Given the description of an element on the screen output the (x, y) to click on. 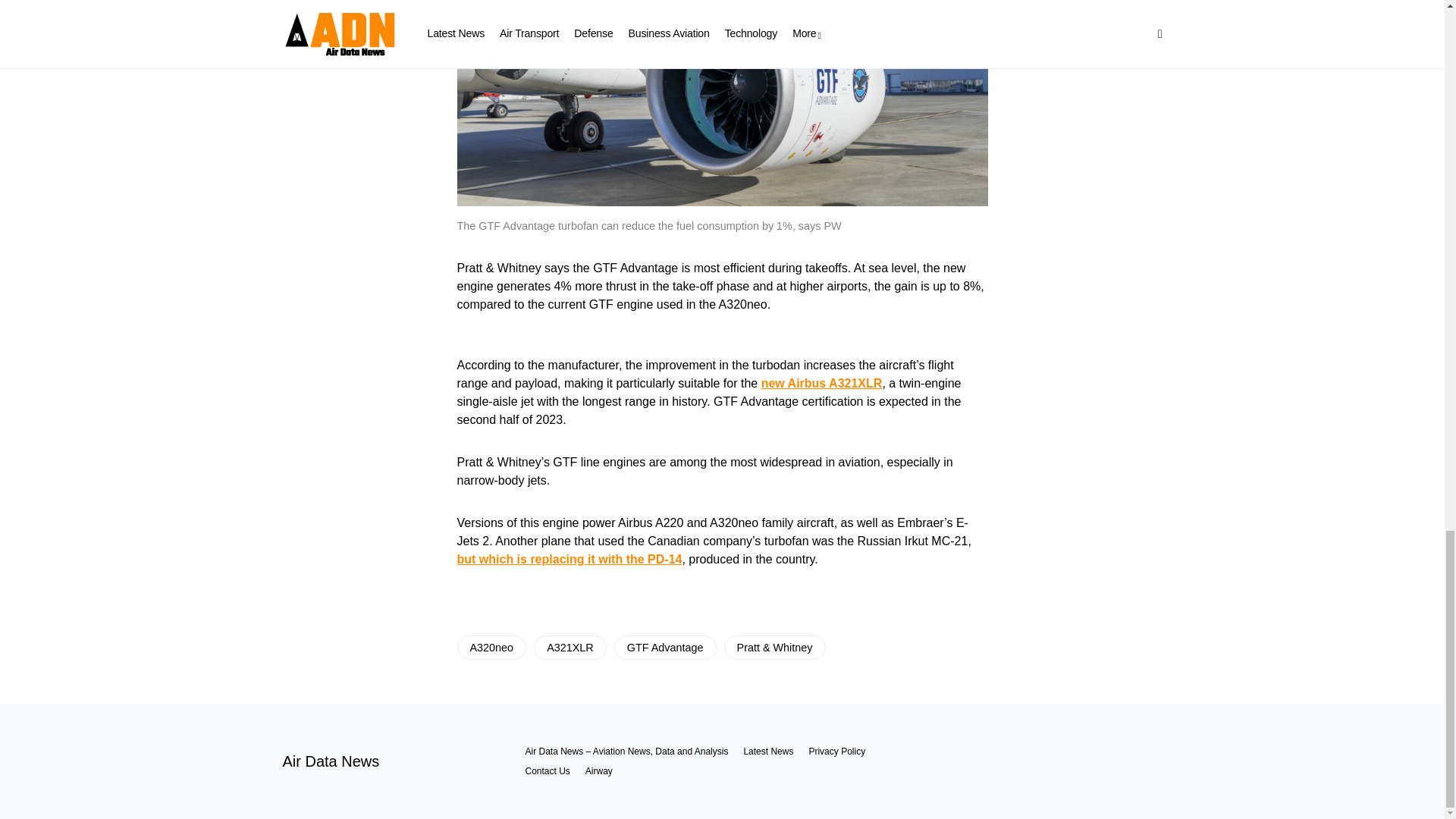
Latest News (767, 751)
Air Data News (330, 761)
GTF Advantage (665, 647)
A320neo (491, 647)
but which is replacing it with the PD-14 (569, 558)
A321XLR (570, 647)
new Airbus A321XLR (821, 382)
Privacy Policy (836, 751)
